Given the description of an element on the screen output the (x, y) to click on. 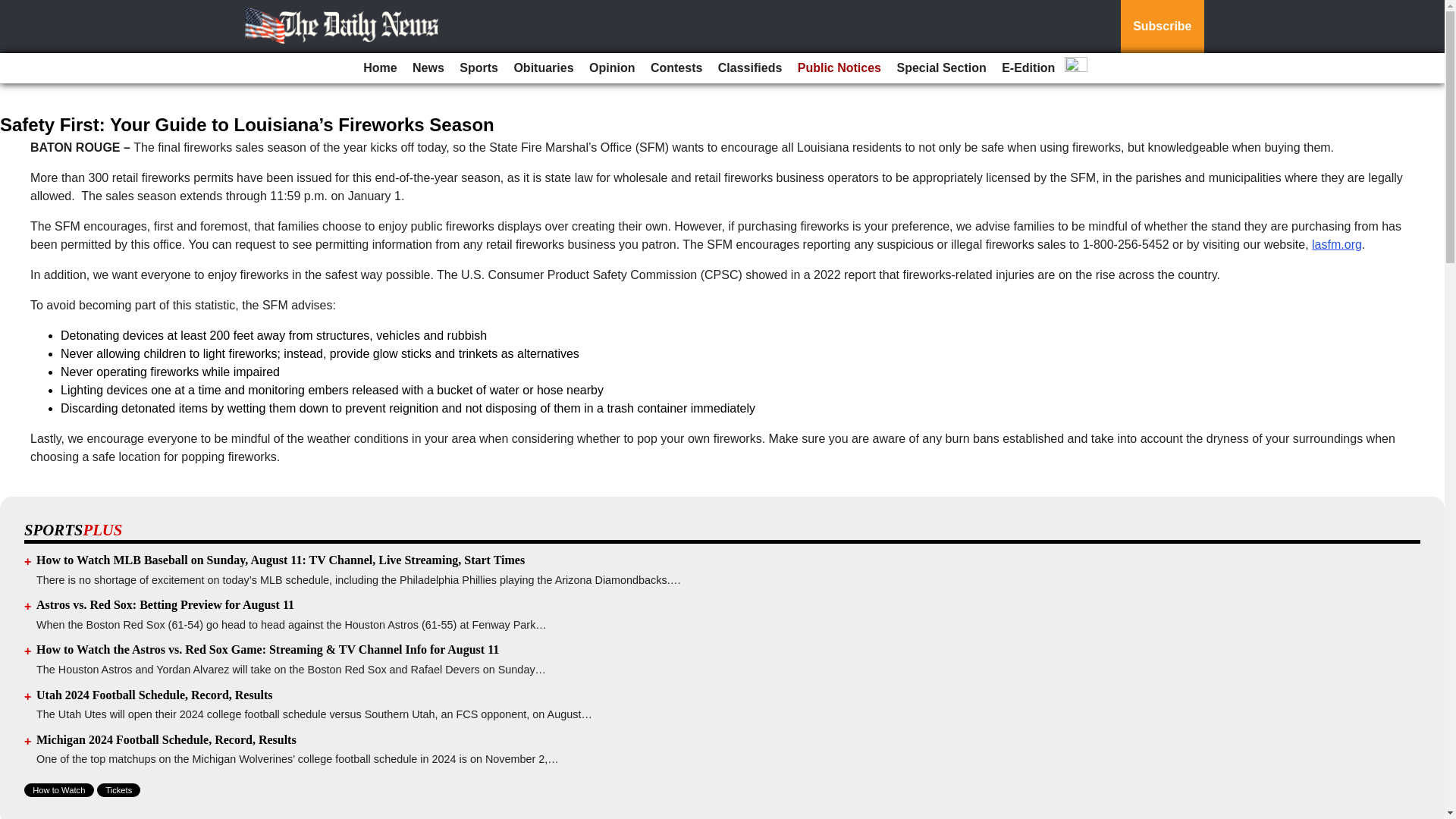
Contests (676, 68)
E-Edition (1028, 68)
How to Watch (59, 789)
Opinion (611, 68)
Classifieds (749, 68)
Home (379, 68)
Subscribe (1162, 26)
News (427, 68)
Special Section (940, 68)
Public Notices (839, 68)
